Given the description of an element on the screen output the (x, y) to click on. 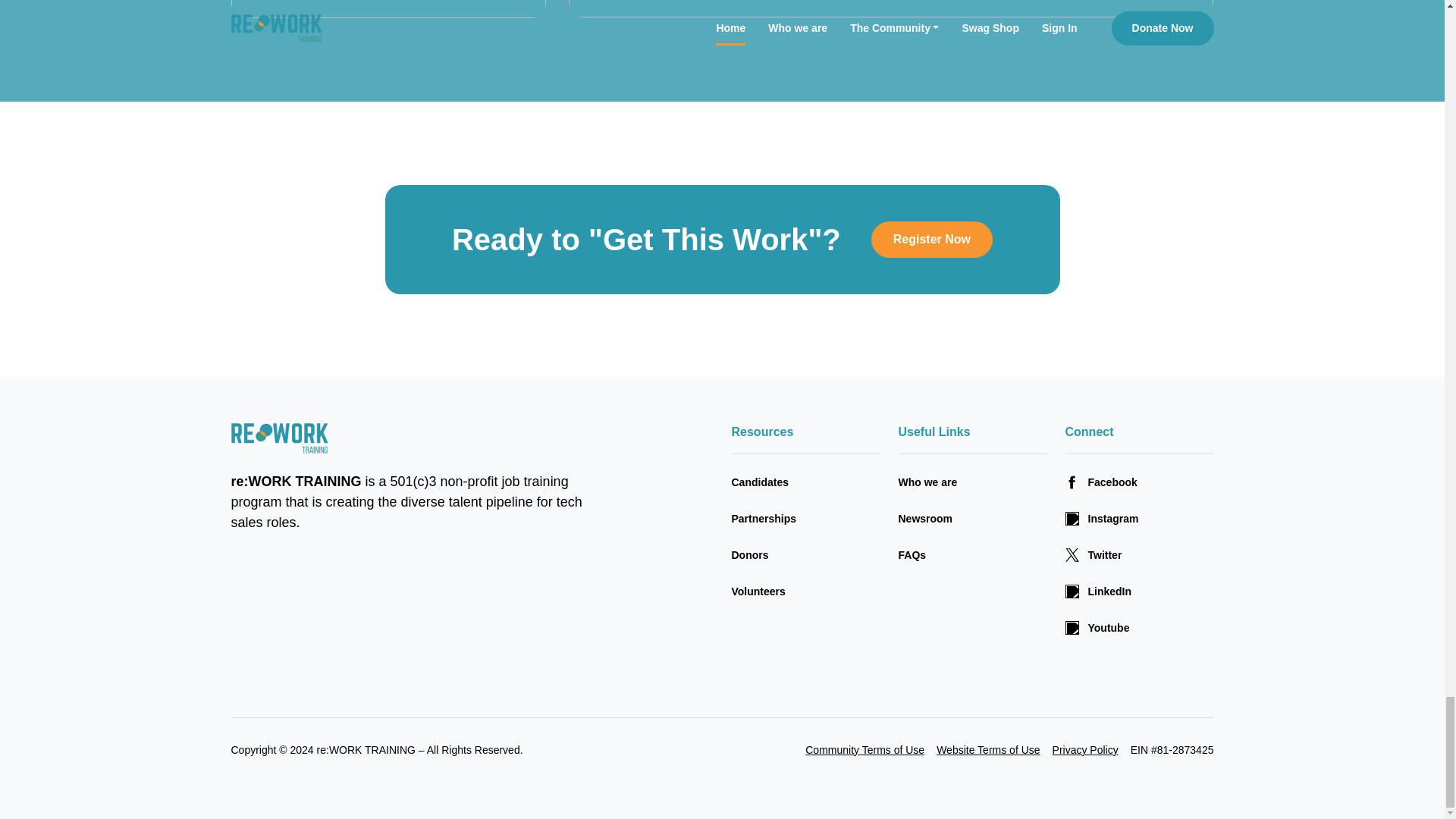
Instagram (1138, 519)
FAQs (972, 555)
Who we are (972, 482)
Donors (804, 555)
Twitter (1138, 555)
Volunteers (804, 591)
Candidates (804, 482)
Partnerships (804, 519)
Youtube (1138, 627)
Register Now (931, 239)
LinkedIn (1138, 591)
Newsroom (972, 519)
Facebook (1138, 482)
